Given the description of an element on the screen output the (x, y) to click on. 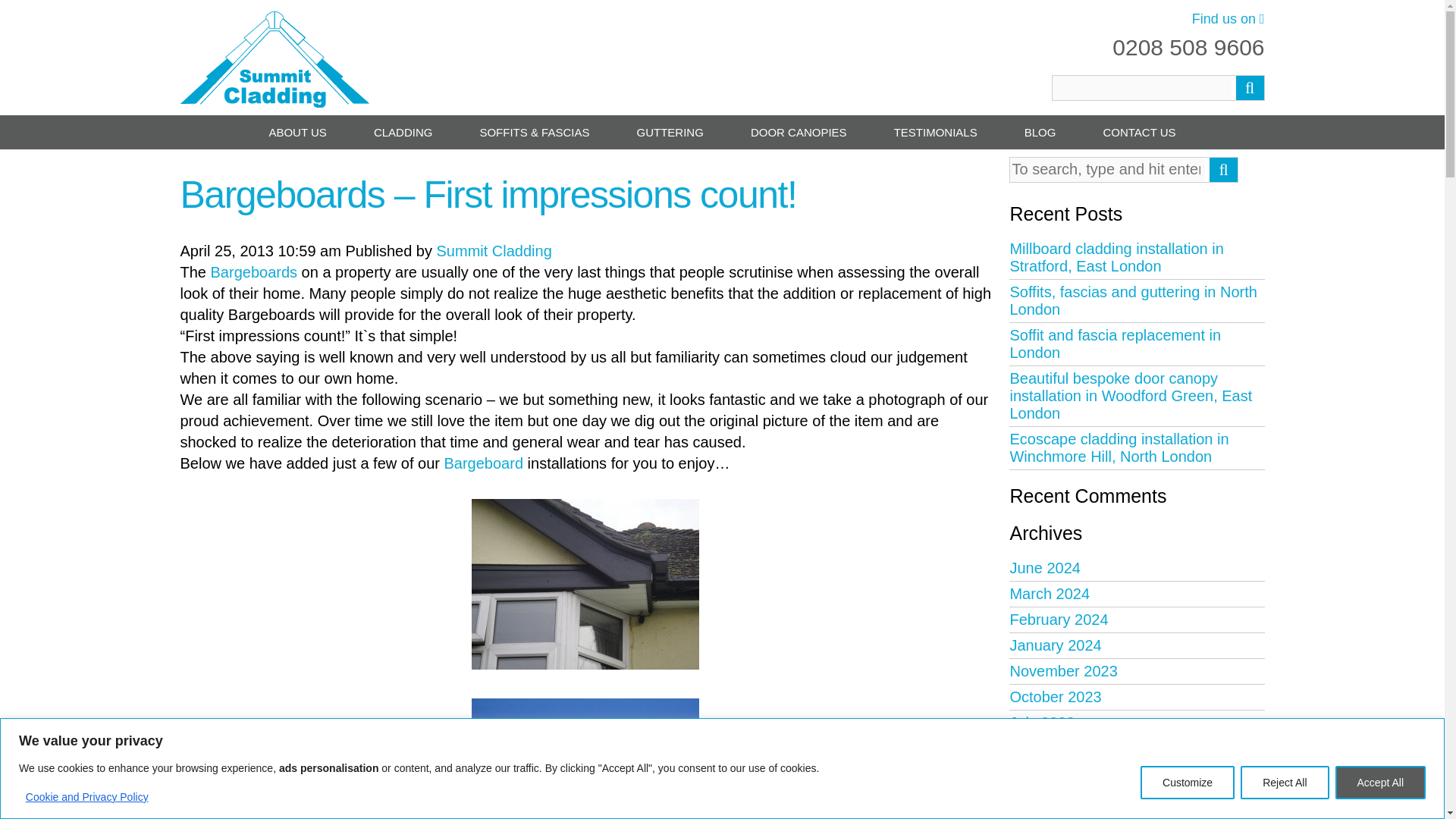
Bargeboards (584, 583)
CLADDING (402, 131)
Customize (1187, 782)
Posts by Summit Cladding (493, 250)
Bargeboards (585, 758)
Accept All (1380, 782)
Bargeboards (584, 758)
GUTTERING (669, 131)
Cookie and Privacy Policy (86, 796)
Reject All (1283, 782)
ABOUT US (297, 131)
DOOR CANOPIES (798, 131)
0208 508 9606 (1187, 47)
